Given the description of an element on the screen output the (x, y) to click on. 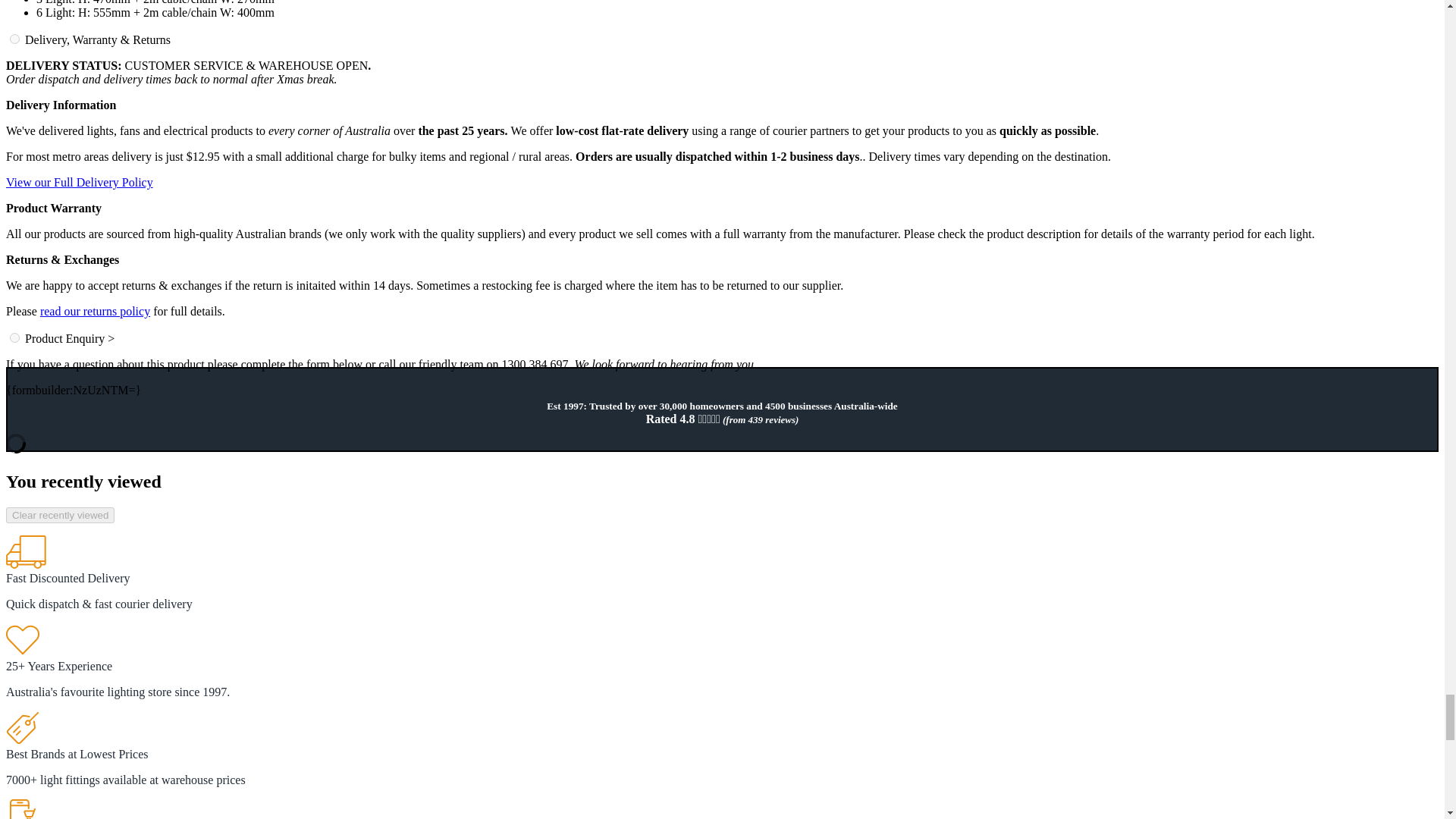
on (15, 39)
on (15, 337)
